Given the description of an element on the screen output the (x, y) to click on. 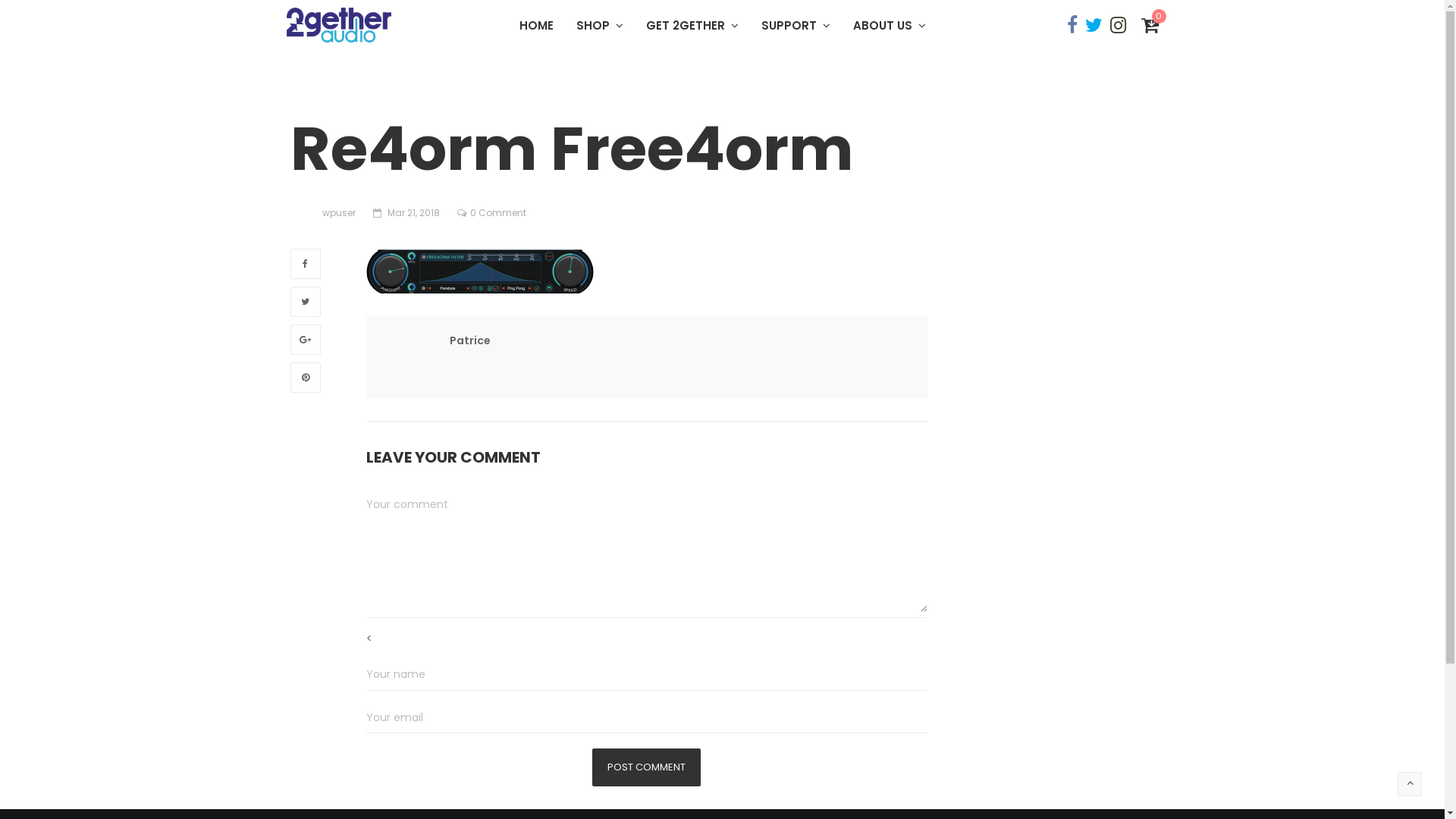
GET 2GETHER Element type: text (691, 24)
Pinterest Element type: hover (304, 377)
Facebook Element type: hover (1071, 25)
Patrice Element type: text (468, 340)
Facebook Element type: hover (304, 263)
Twitter Element type: hover (304, 301)
Back to top Element type: hover (1409, 783)
Mar 21, 2018 Element type: text (412, 212)
Instagram Element type: hover (1118, 25)
SUPPORT Element type: text (794, 24)
SHOP Element type: text (598, 24)
Googleplus Element type: hover (304, 339)
Post comment Element type: text (646, 767)
Twitter Element type: hover (1092, 25)
ABOUT US Element type: text (889, 24)
0 Comment Element type: text (498, 212)
HOME Element type: text (536, 24)
